Given the description of an element on the screen output the (x, y) to click on. 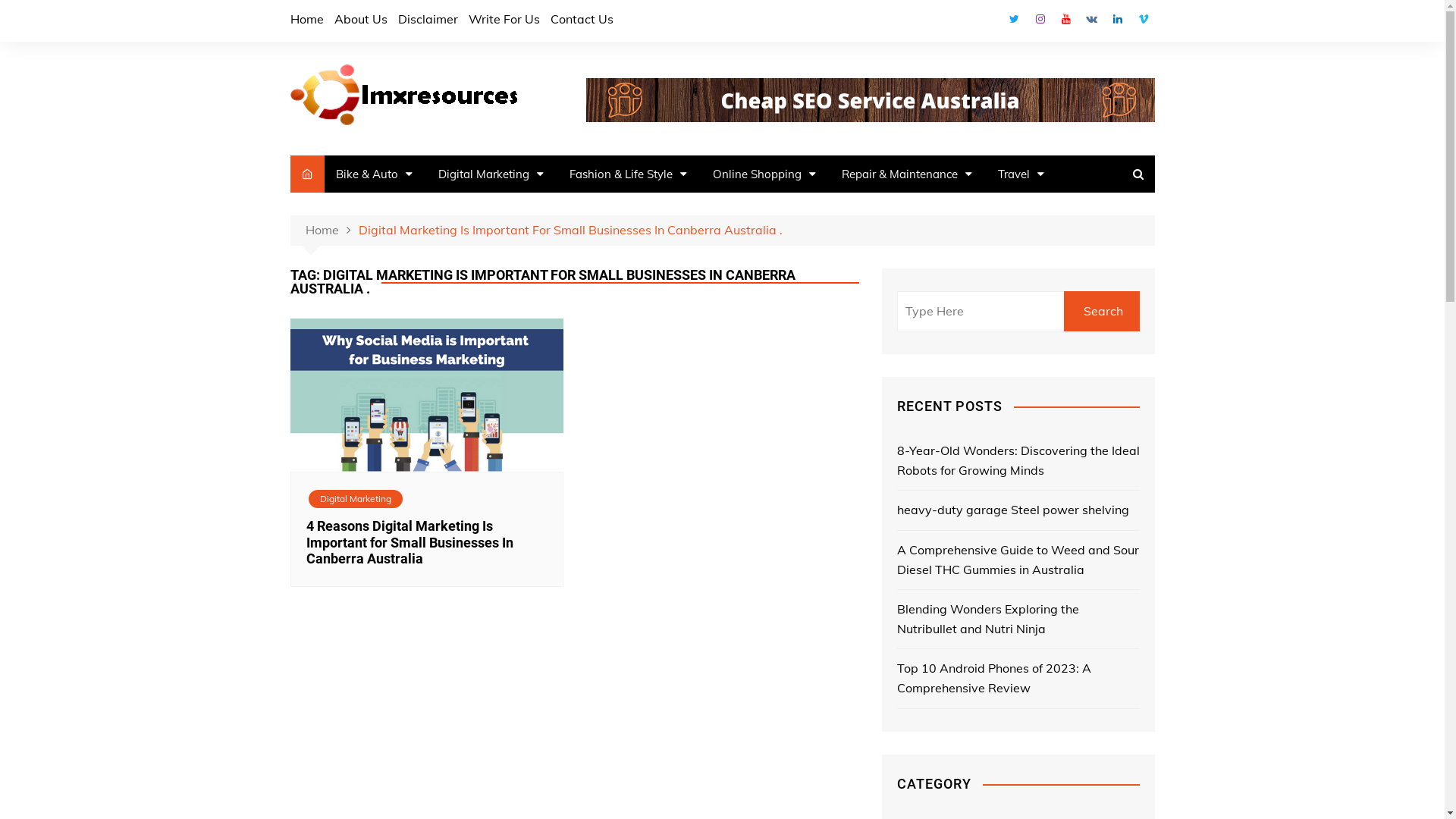
Home Element type: text (306, 18)
About Us Element type: text (359, 18)
VK Element type: text (1090, 18)
Home Element type: text (330, 230)
Bike & Auto Element type: text (373, 173)
Write For Us Element type: text (503, 18)
Digital Marketing Element type: text (490, 173)
heavy-duty garage Steel power shelving Element type: text (1017, 510)
Linkedin Element type: text (1116, 18)
Search Element type: text (1101, 311)
Disclaimer Element type: text (427, 18)
Twitter Element type: text (1013, 18)
Online Shopping Element type: text (763, 173)
Vimeo Element type: text (1142, 18)
Fashion & Life Style Element type: text (628, 173)
Blending Wonders Exploring the Nutribullet and Nutri Ninja Element type: text (1017, 618)
Youtube Element type: text (1065, 18)
Facebook Element type: text (987, 22)
Instagram Element type: text (1039, 18)
Repair & Maintenance Element type: text (905, 173)
Travel Element type: text (1019, 173)
Digital Marketing Element type: text (354, 498)
Contact Us Element type: text (581, 18)
Top 10 Android Phones of 2023: A Comprehensive Review Element type: text (1017, 677)
